Given the description of an element on the screen output the (x, y) to click on. 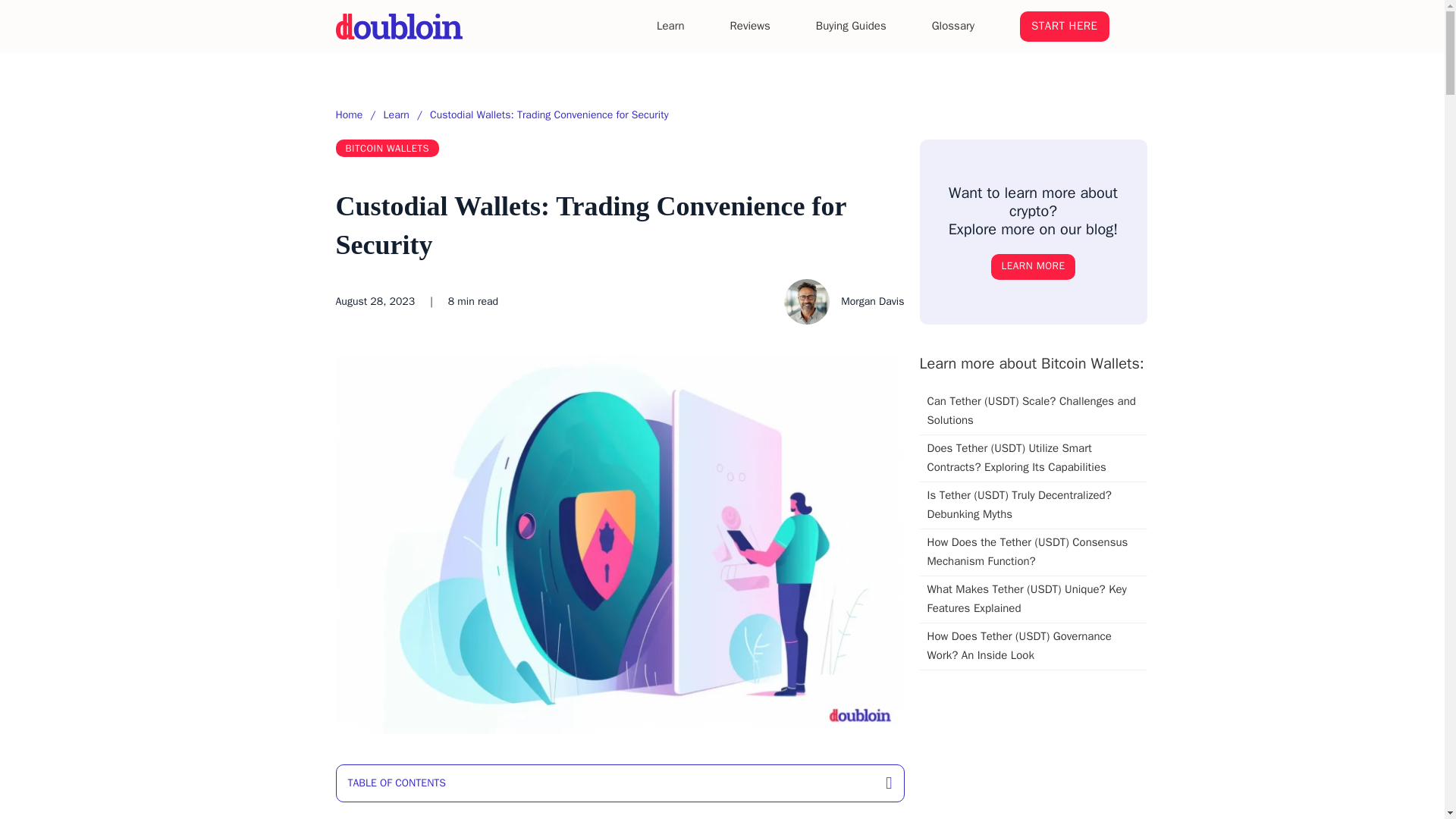
Learn (396, 115)
LEARN MORE (1033, 266)
Buying Guides (850, 26)
START HERE (1064, 26)
Learn (670, 26)
Morgan Davis (844, 301)
Reviews (750, 26)
BITCOIN WALLETS (386, 148)
Home (348, 115)
Glossary (952, 26)
